Given the description of an element on the screen output the (x, y) to click on. 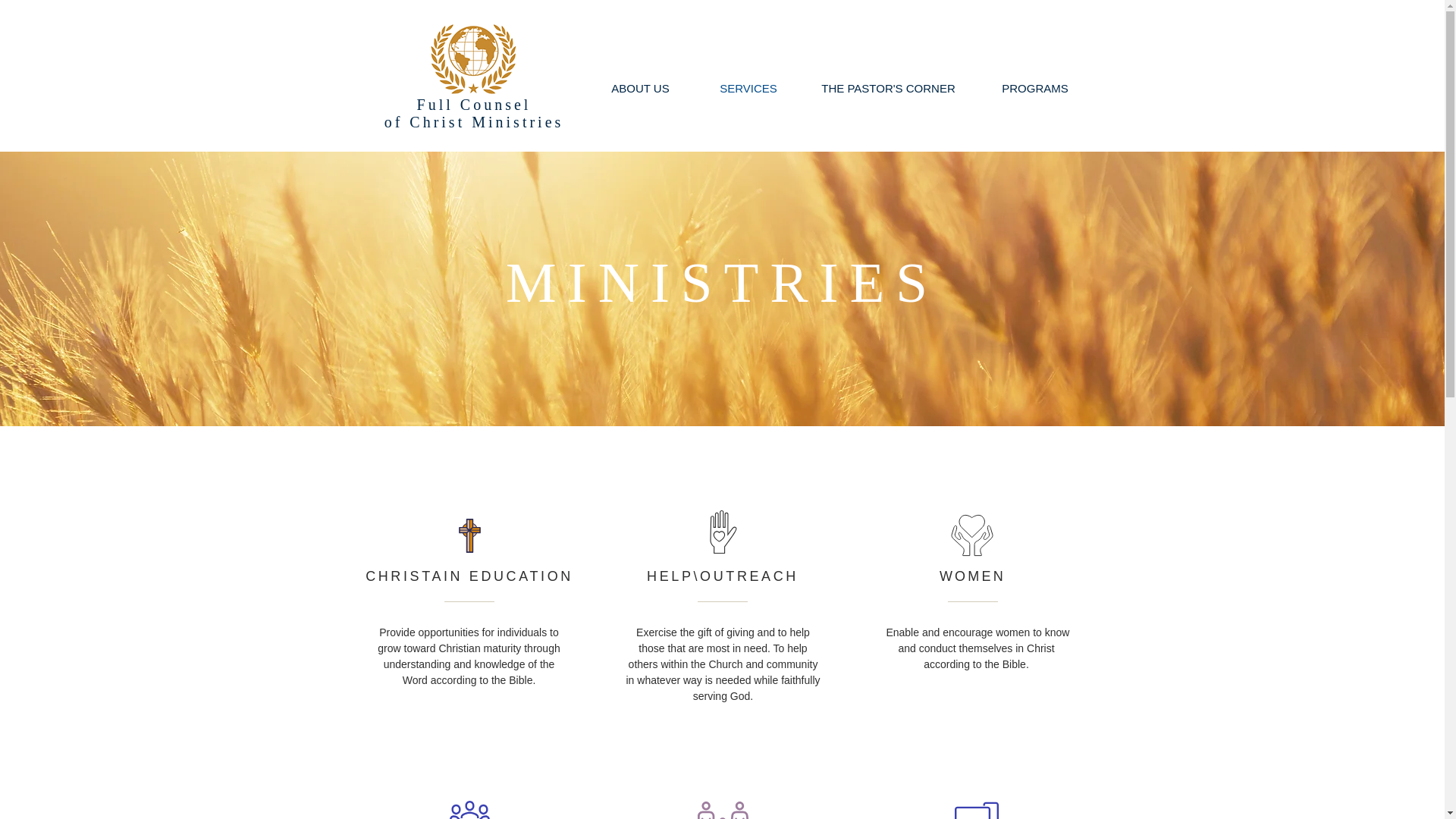
SERVICES (747, 88)
THE PASTOR'S CORNER (888, 88)
PROGRAMS (1035, 88)
ABOUT US (639, 88)
Full Counsel (473, 104)
